Given the description of an element on the screen output the (x, y) to click on. 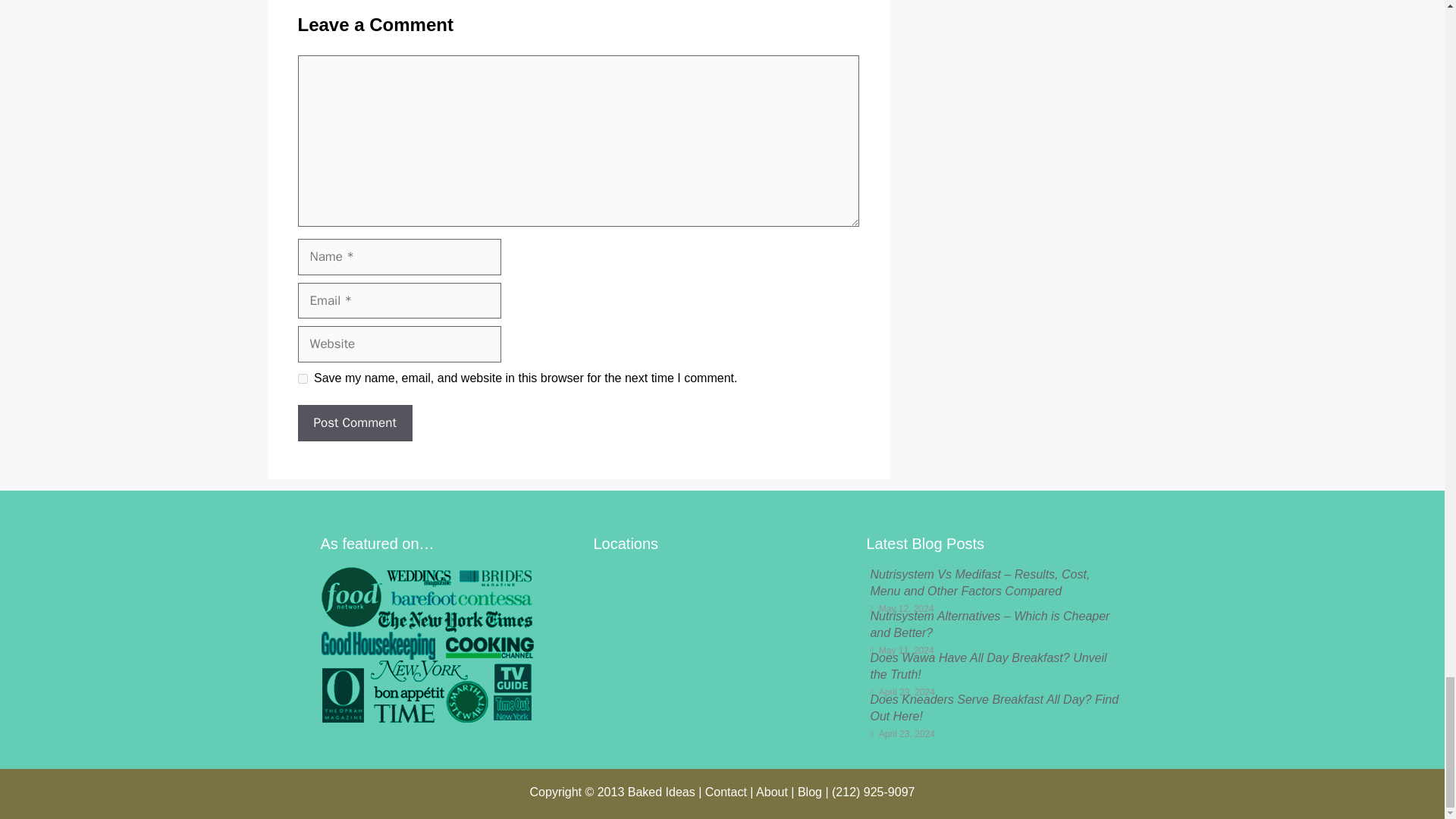
yes (302, 378)
London Eye, London, United Kingdom (721, 643)
Baked Ideas (661, 791)
Does Wawa Have All Day Breakfast? Unveil the Truth! (987, 665)
Post Comment (354, 422)
Does Kneaders Serve Breakfast All Day? Find Out Here! (993, 707)
